Given the description of an element on the screen output the (x, y) to click on. 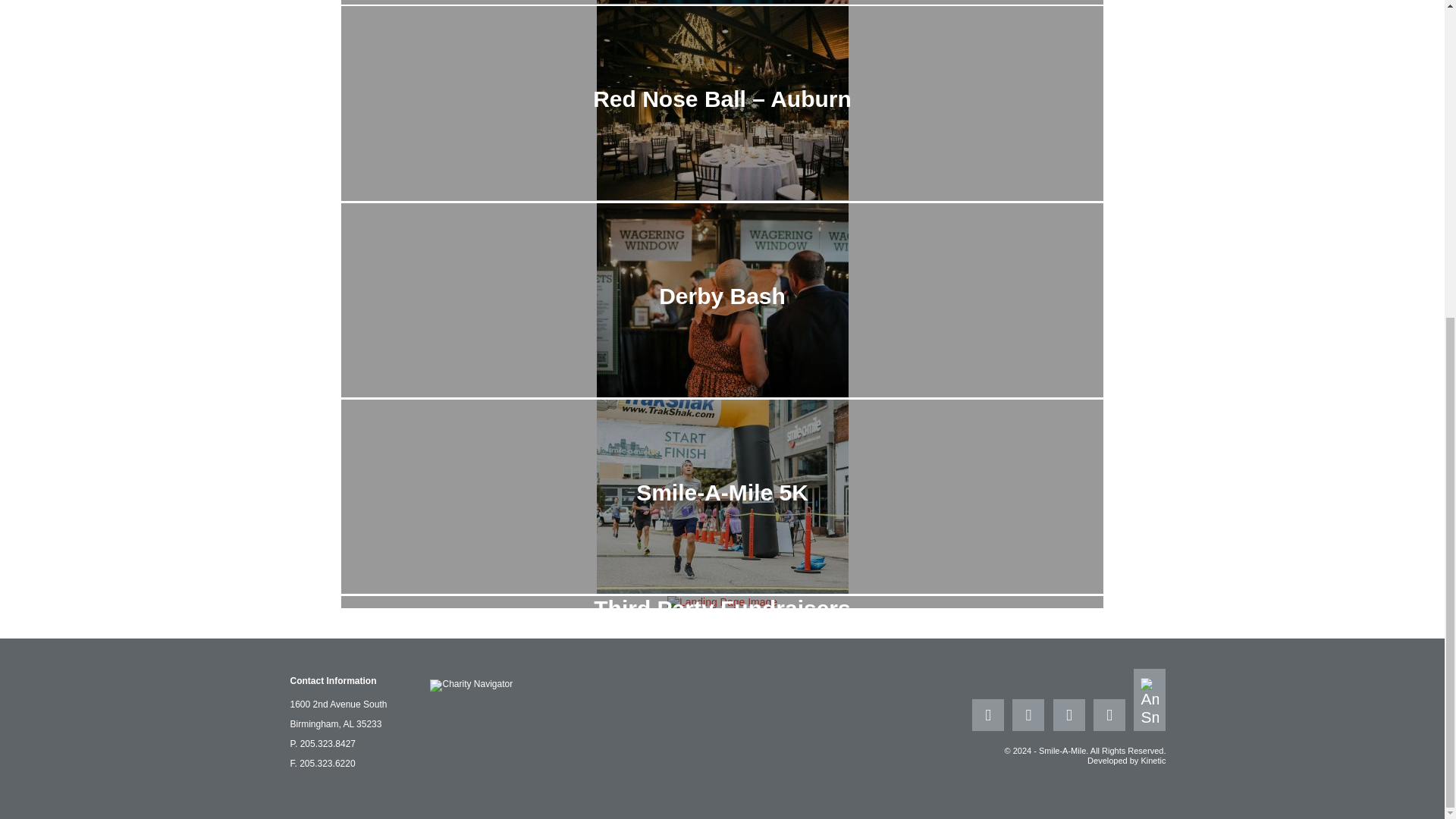
Red Nose Ball (721, 2)
Smile-A-Mile 5K (721, 589)
Derby Bash (721, 393)
